Given the description of an element on the screen output the (x, y) to click on. 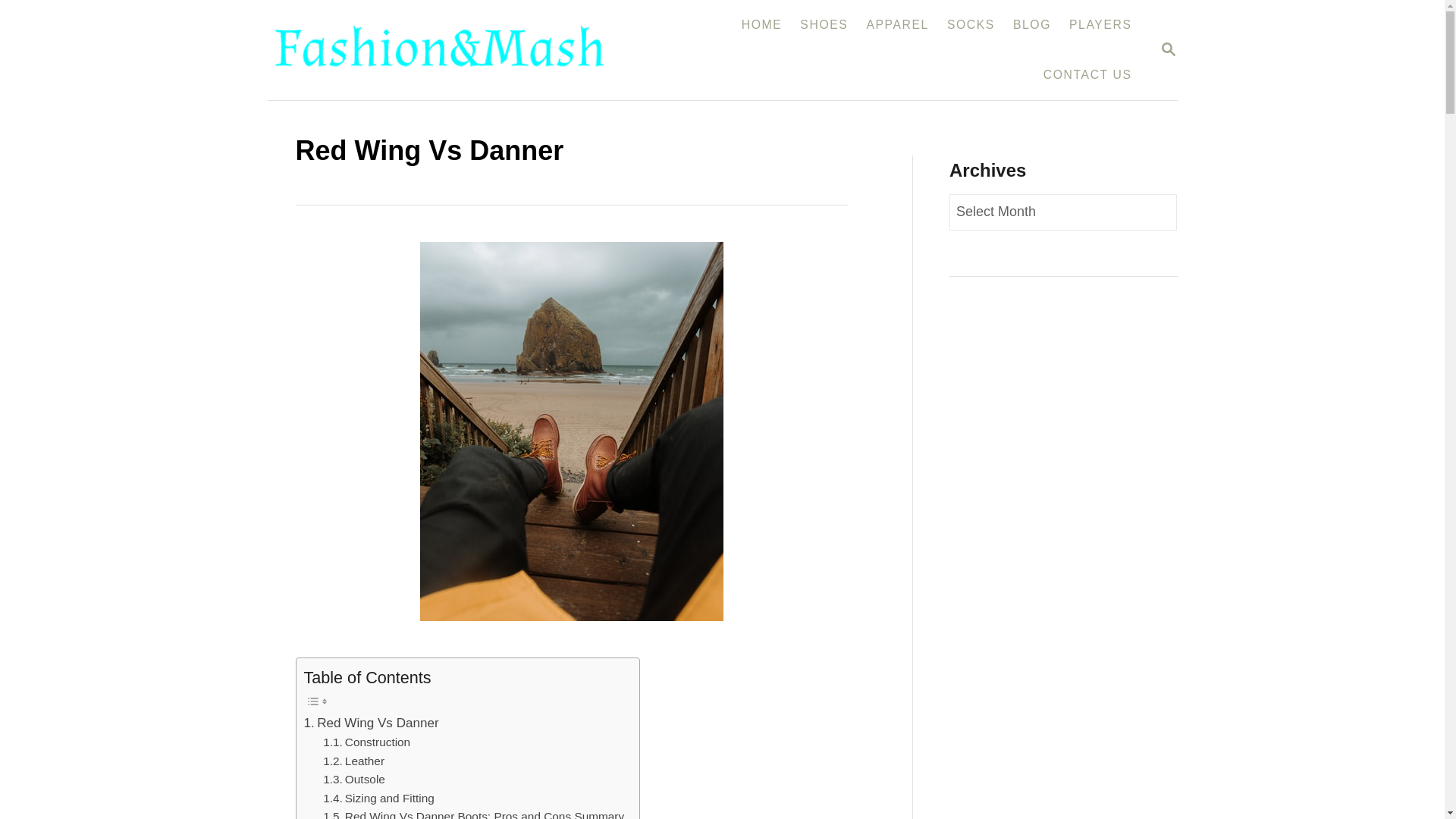
Red Wing Vs Danner (370, 722)
SOCKS (970, 24)
Outsole (354, 779)
Leather (353, 761)
Leather (353, 761)
CONTACT US (1087, 74)
Sizing and Fitting (378, 798)
SHOES (823, 24)
Construction (366, 742)
Red Wing Vs Danner (370, 722)
